Given the description of an element on the screen output the (x, y) to click on. 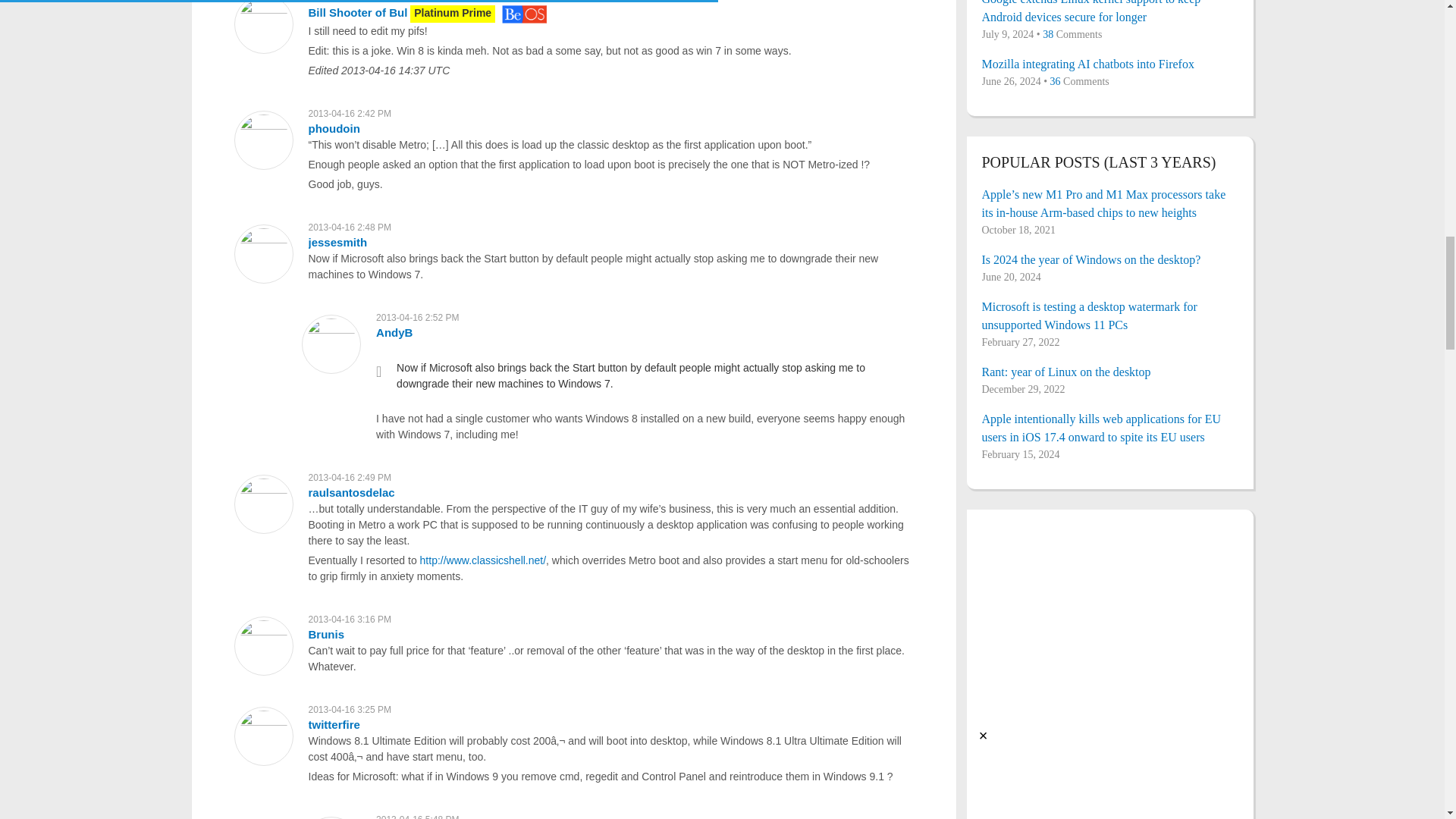
Bill Shooter of Bul (357, 11)
jessesmith (336, 241)
raulsantosdelac (350, 492)
AndyB (393, 332)
phoudoin (333, 128)
Brunis (325, 634)
twitterfire (333, 724)
